Given the description of an element on the screen output the (x, y) to click on. 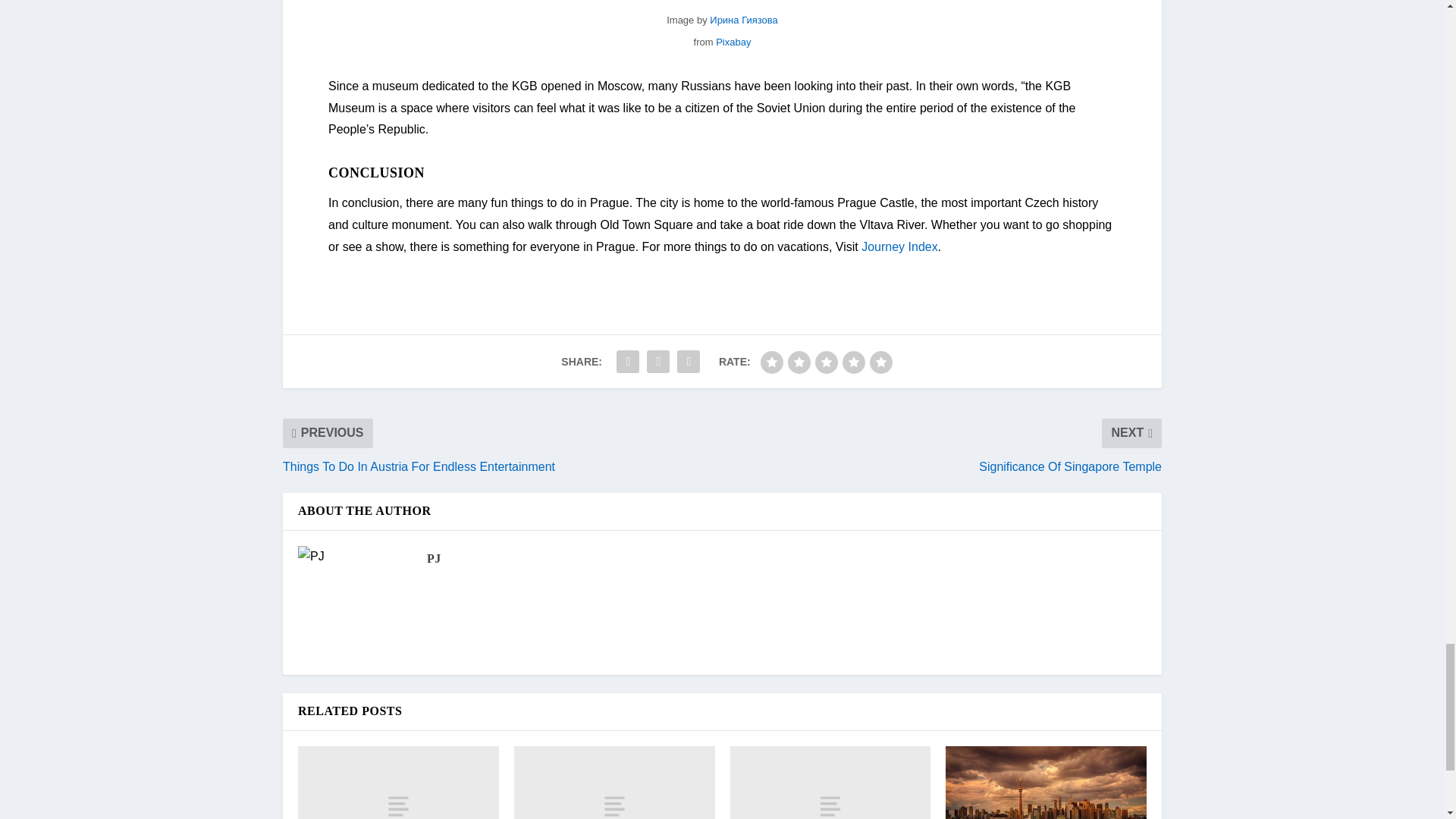
Share "Best Things To Do In Prague" via Twitter (657, 361)
Share "Best Things To Do In Prague" via Pinterest (687, 361)
poor (798, 362)
View all posts by PJ (433, 558)
regular (826, 362)
Share "Best Things To Do In Prague" via Facebook (627, 361)
Journey Index (899, 246)
gorgeous (880, 362)
Pixabay (733, 41)
bad (771, 362)
good (853, 362)
